Given the description of an element on the screen output the (x, y) to click on. 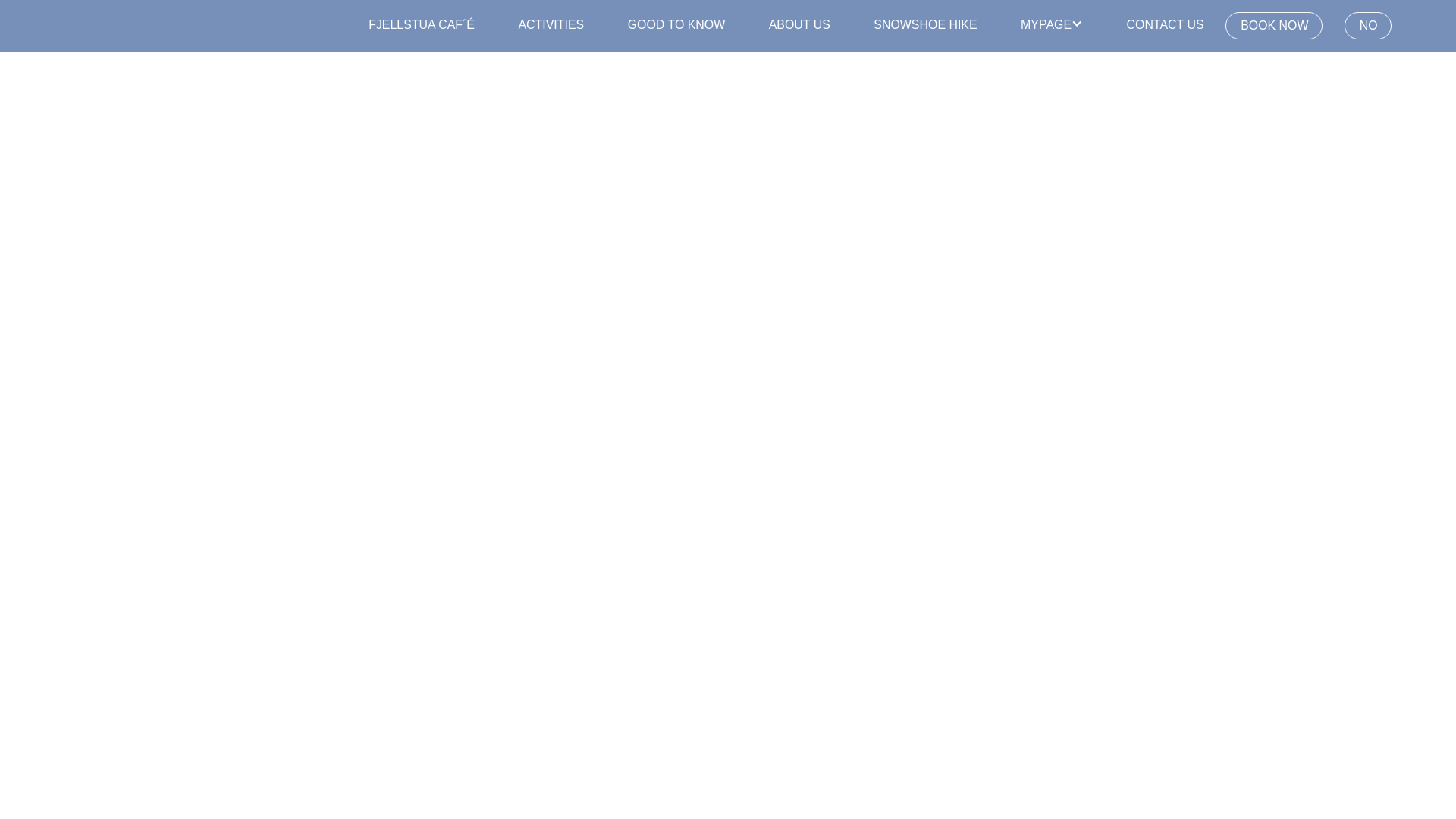
ACTIVITIES (550, 25)
CONTACT US (1165, 25)
GOOD TO KNOW (676, 25)
NO (1367, 25)
SNOWSHOE HIKE (924, 25)
ABOUT US (798, 25)
BOOK NOW (1273, 25)
